Given the description of an element on the screen output the (x, y) to click on. 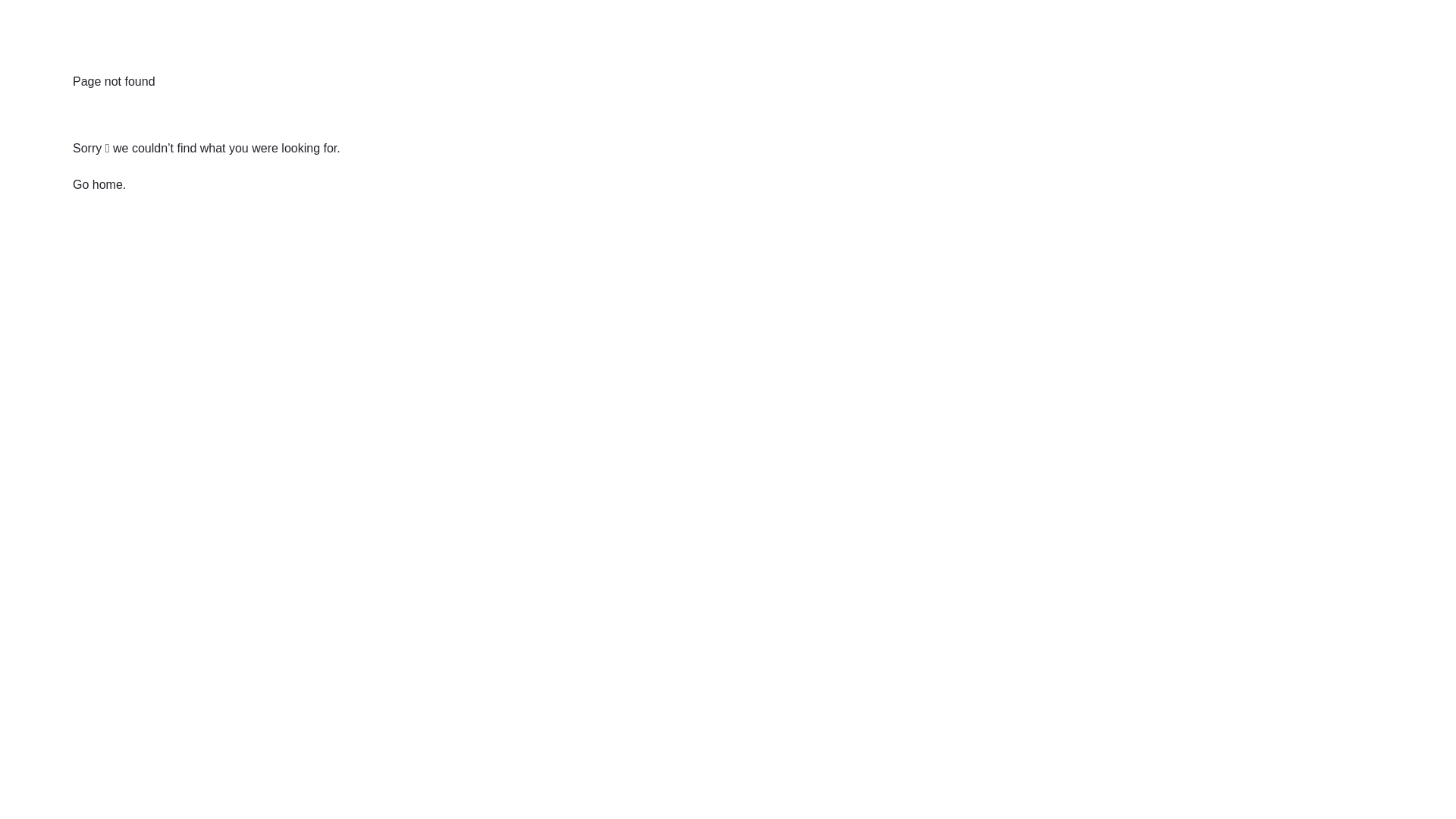
Go home Element type: text (97, 184)
